Given the description of an element on the screen output the (x, y) to click on. 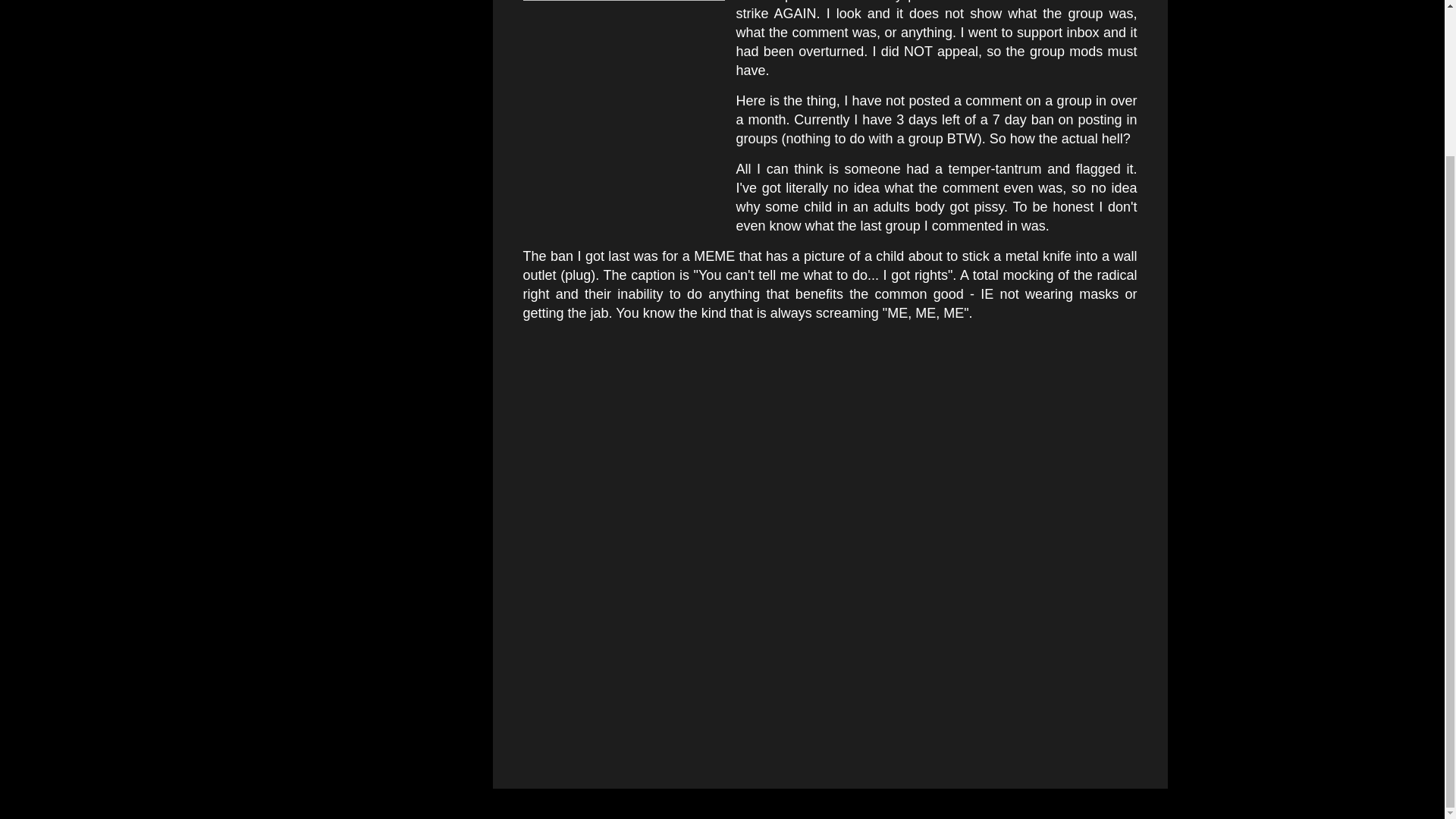
Email Post (562, 394)
